Given the description of an element on the screen output the (x, y) to click on. 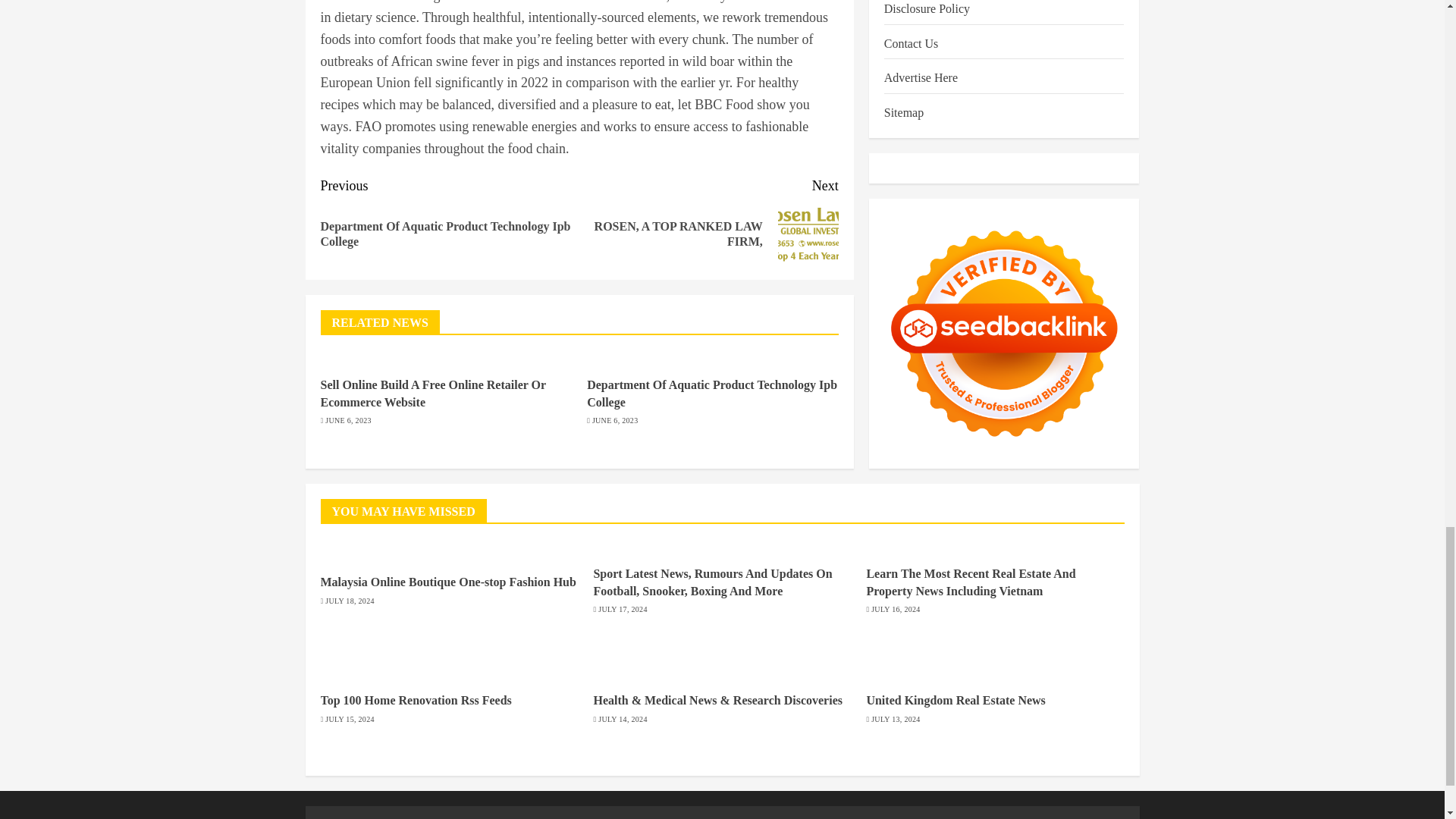
ROSEN, A TOP RANKED LAW FIRM, (708, 220)
JUNE 6, 2023 (807, 233)
Department Of Aquatic Product Technology Ipb College (347, 420)
Seedbacklink (711, 393)
JUNE 6, 2023 (1003, 249)
